Given the description of an element on the screen output the (x, y) to click on. 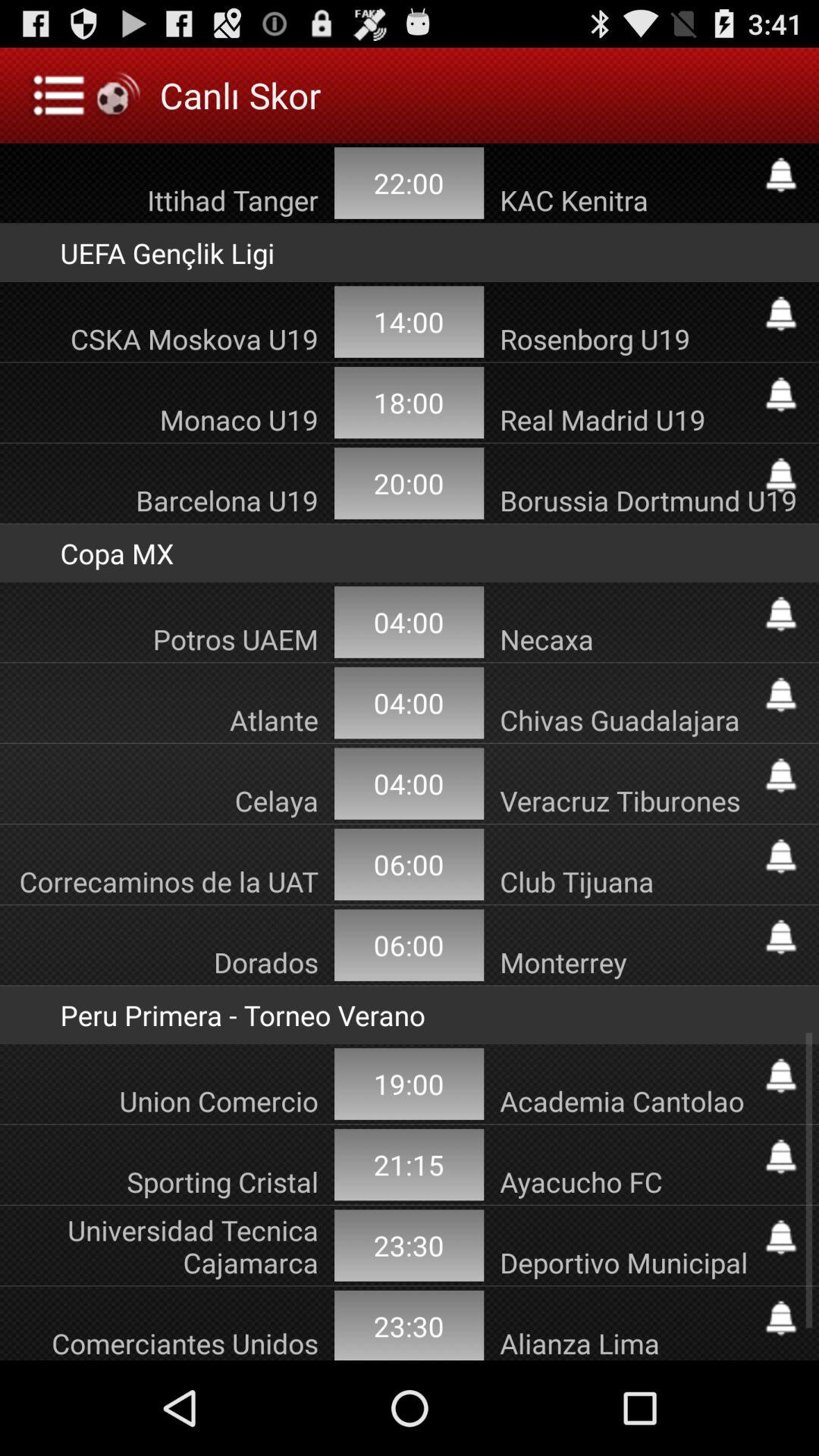
notification option (780, 775)
